Given the description of an element on the screen output the (x, y) to click on. 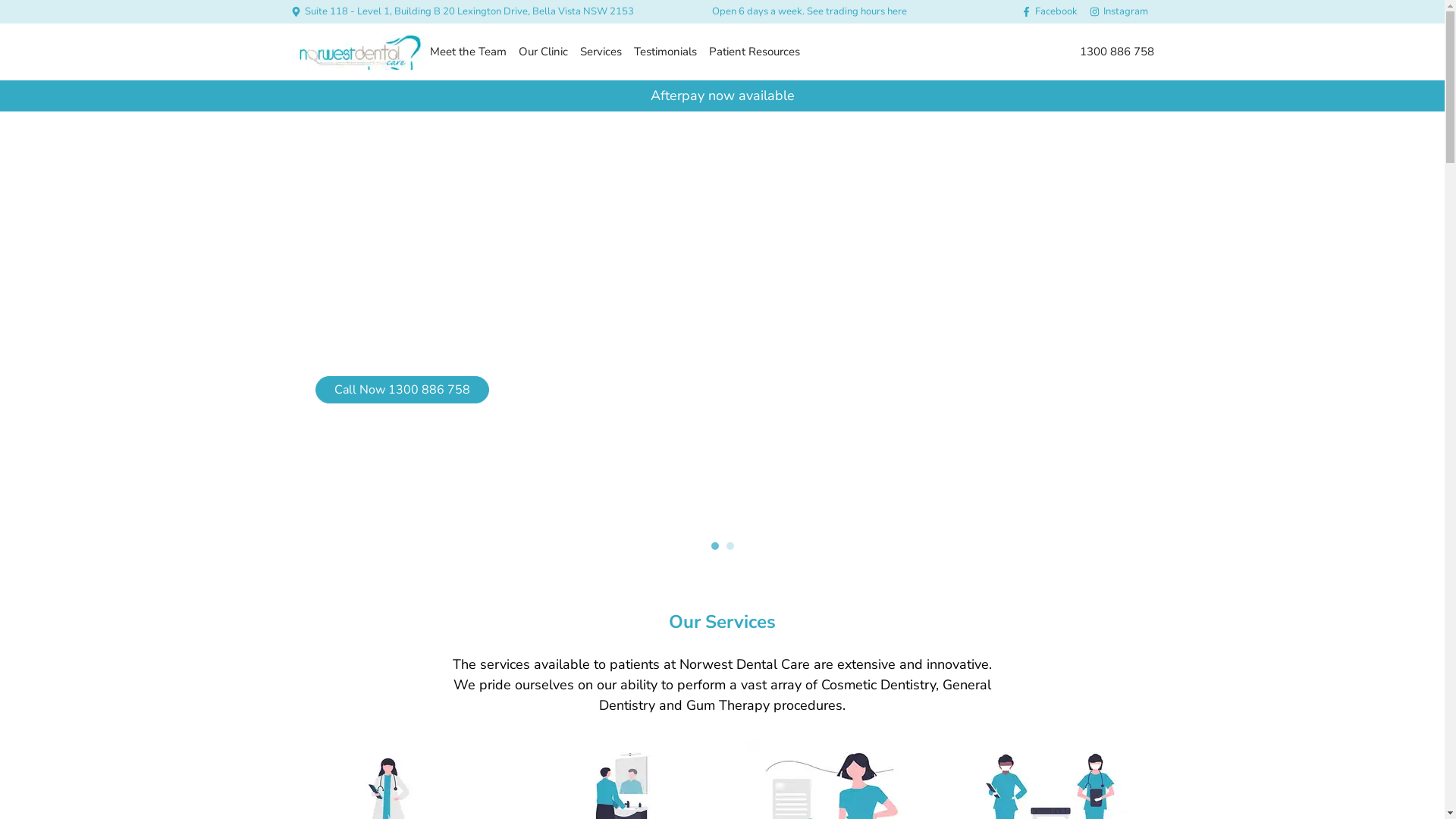
Call Now 1300 886 758 Element type: text (402, 389)
Testimonials Element type: text (664, 51)
Services Element type: text (600, 51)
Meet the Team Element type: text (467, 51)
2 Element type: text (730, 545)
Facebook Element type: text (1048, 11)
1 Element type: text (714, 545)
Patient Resources Element type: text (753, 51)
1300 886 758 Element type: text (1116, 51)
See trading hours here Element type: text (856, 11)
Our Clinic Element type: text (542, 51)
Instagram Element type: text (1117, 11)
